Given the description of an element on the screen output the (x, y) to click on. 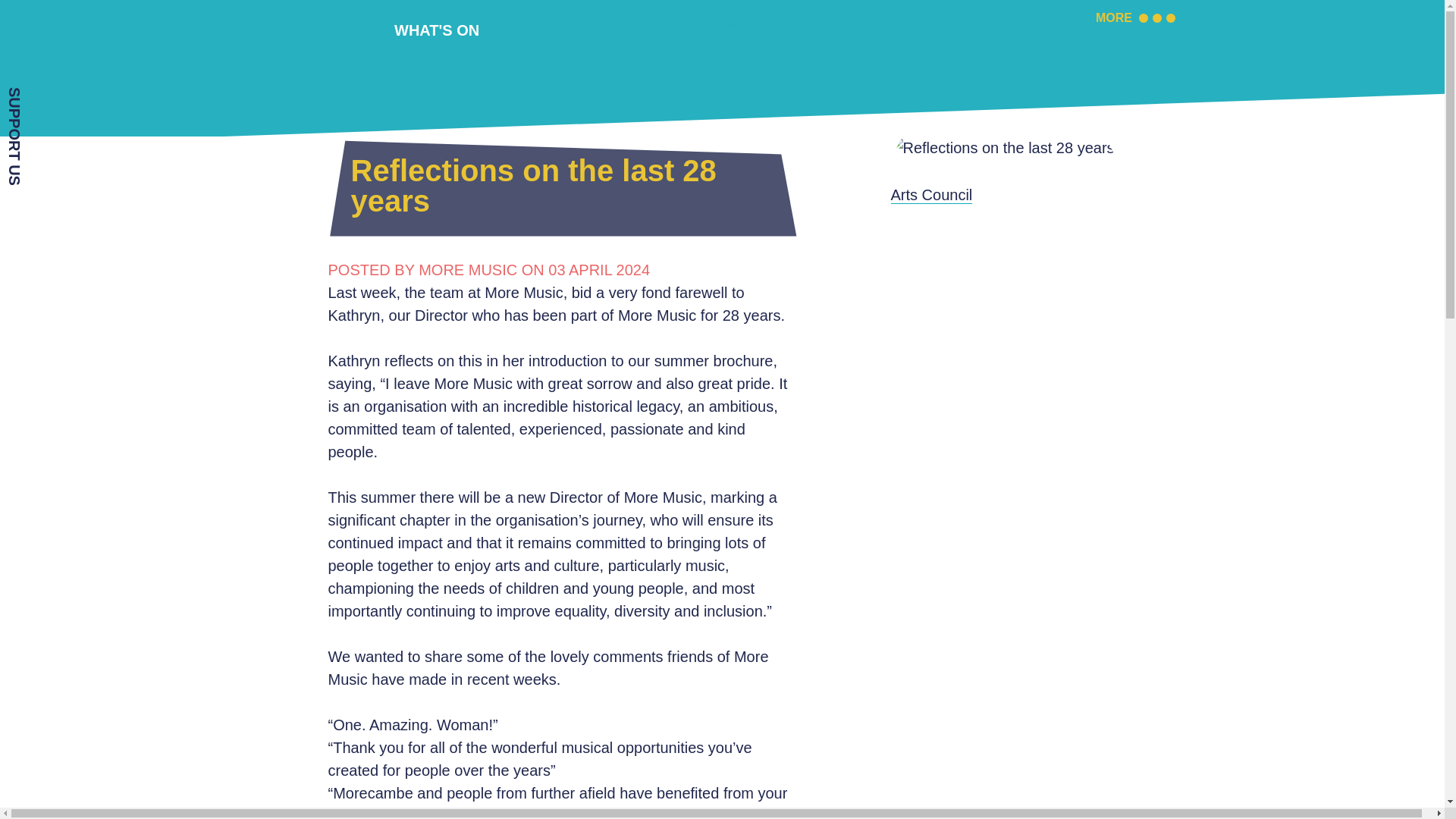
WHAT'S ON (436, 30)
More Music (727, 47)
MORE (1135, 19)
Arts Council (930, 194)
